Given the description of an element on the screen output the (x, y) to click on. 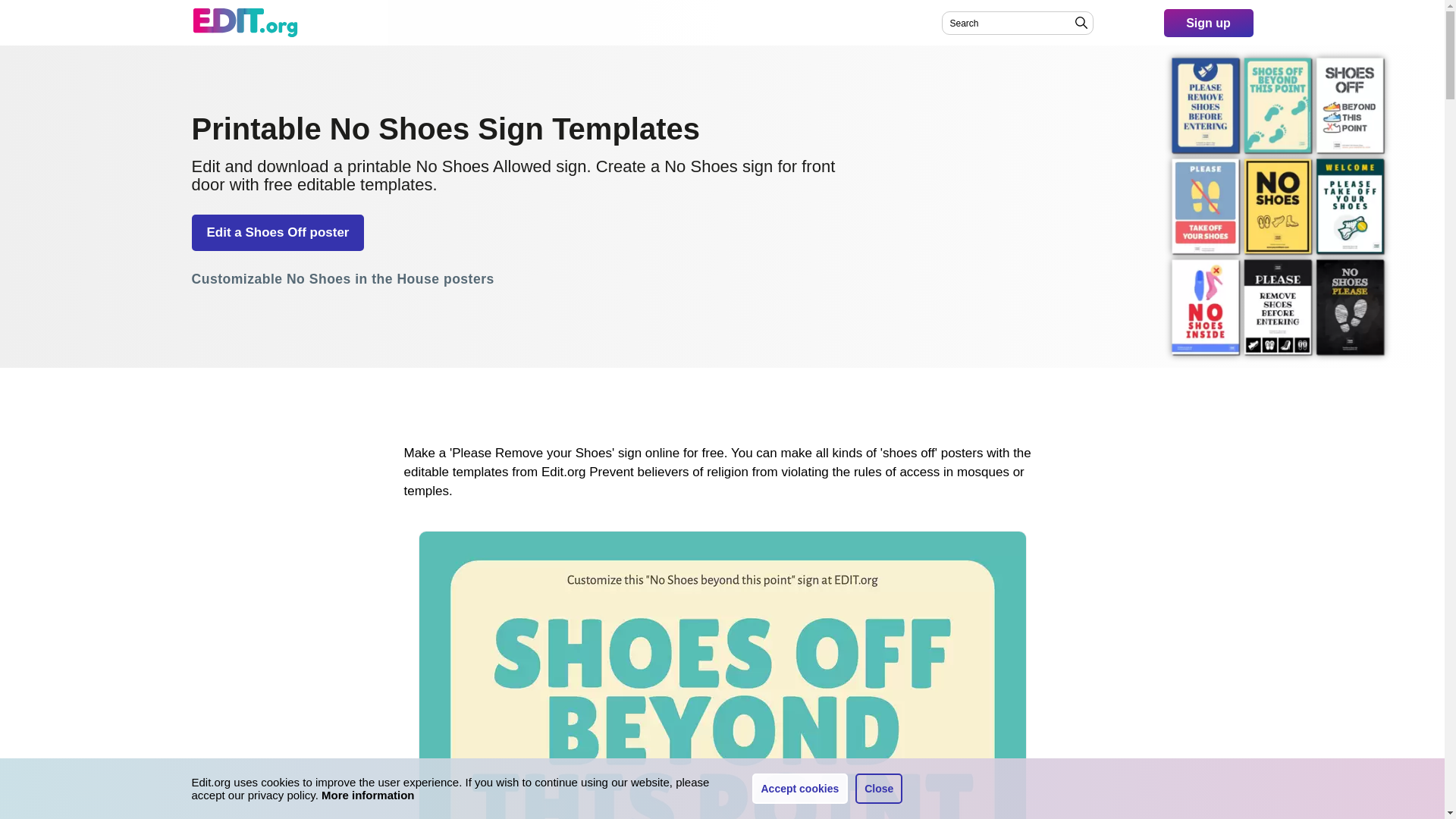
Sign up (1207, 22)
Customizable No Shoes in the House posters (341, 280)
Edit.org online editor (244, 22)
Close (879, 788)
Edit a Shoes Off poster (277, 232)
Customizable No Shoes in the House posters (341, 280)
Accept cookies (800, 788)
More information (367, 794)
